Given the description of an element on the screen output the (x, y) to click on. 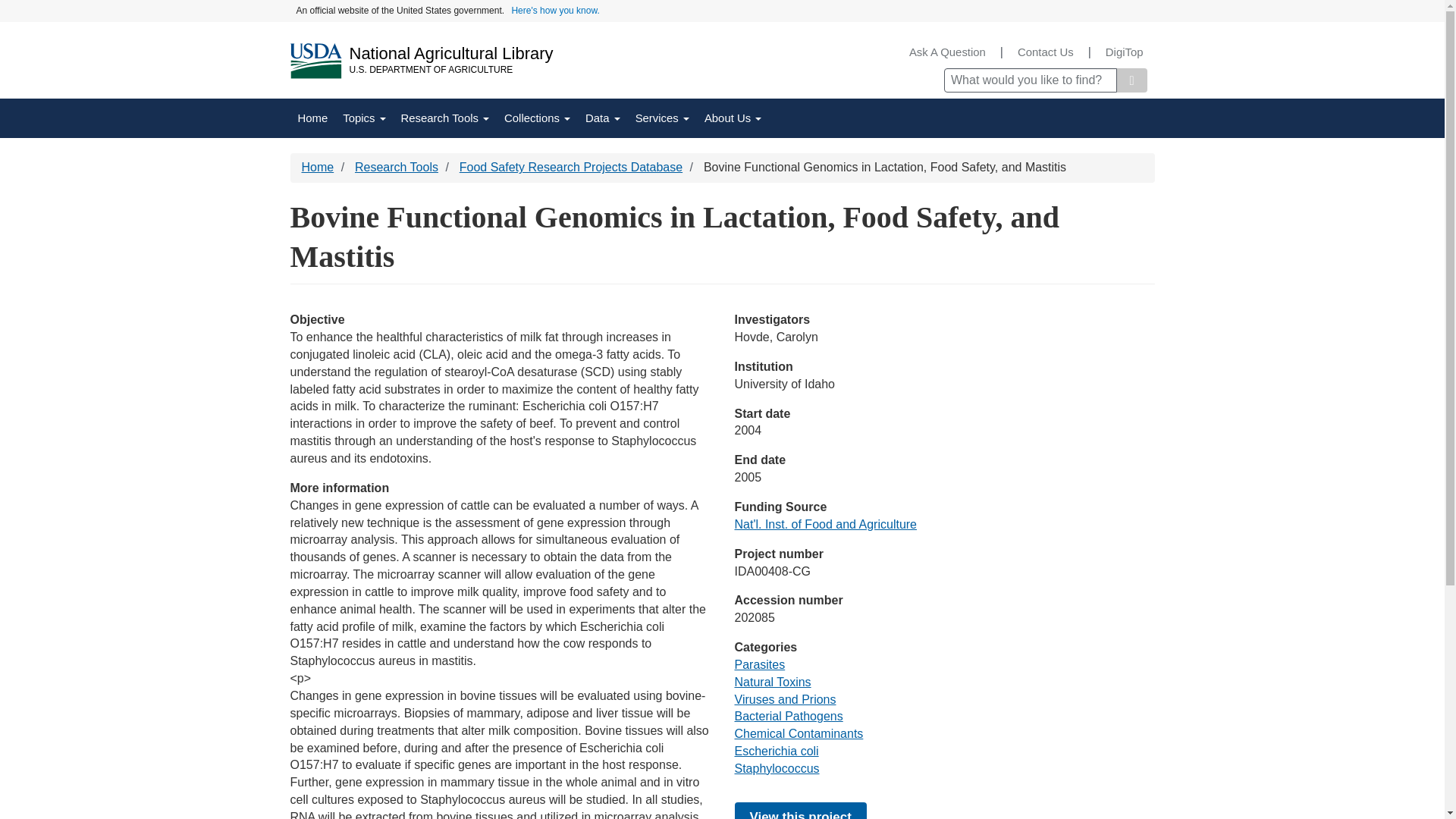
Home (311, 118)
Contact Us (1045, 51)
Home (451, 53)
Collections (537, 118)
DigiTop (1124, 51)
Topics (363, 118)
Submit Search (1131, 79)
Data (602, 118)
National Agricultural Library (451, 53)
